Given the description of an element on the screen output the (x, y) to click on. 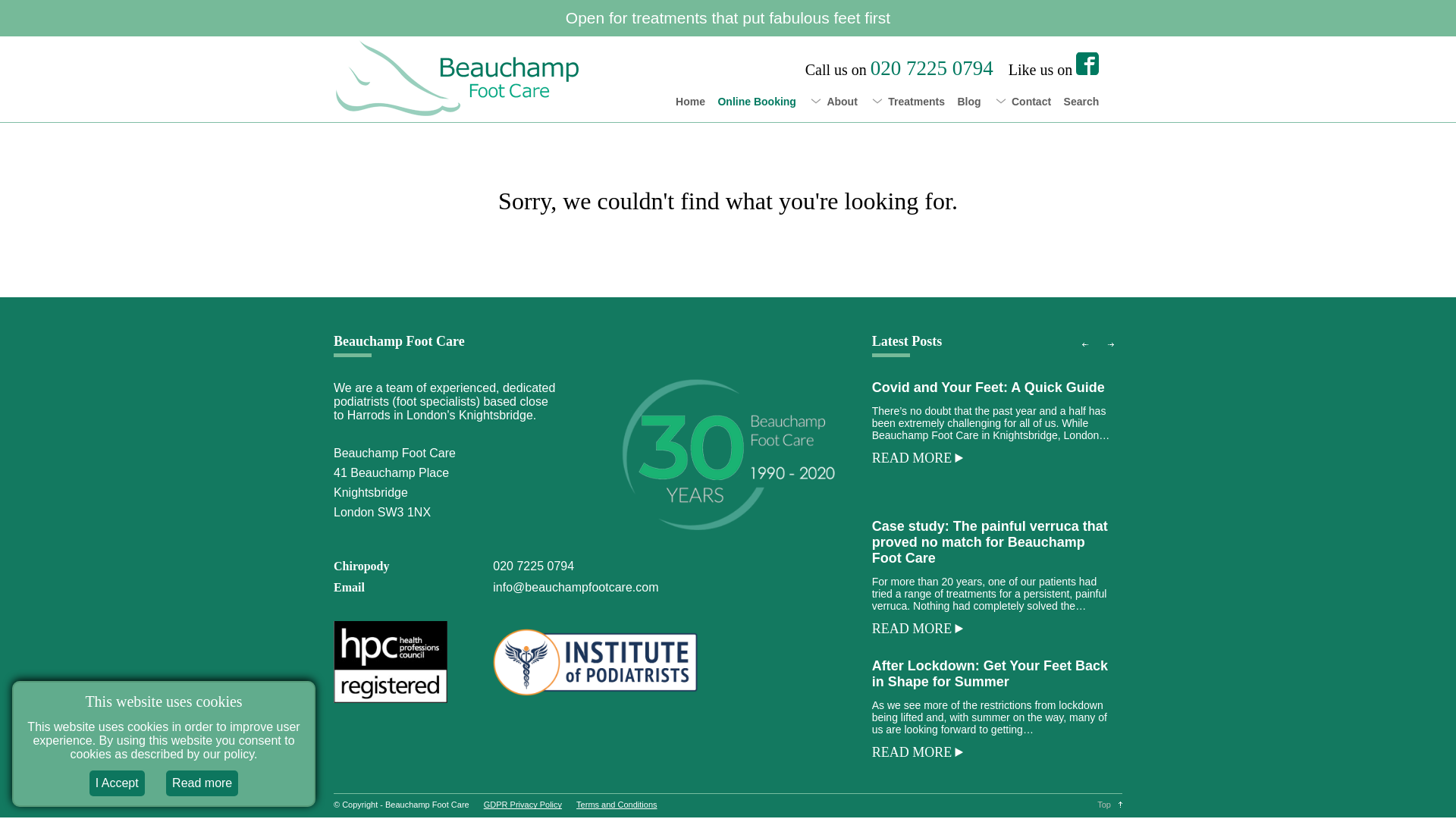
View Facebook Profile (1087, 63)
